Given the description of an element on the screen output the (x, y) to click on. 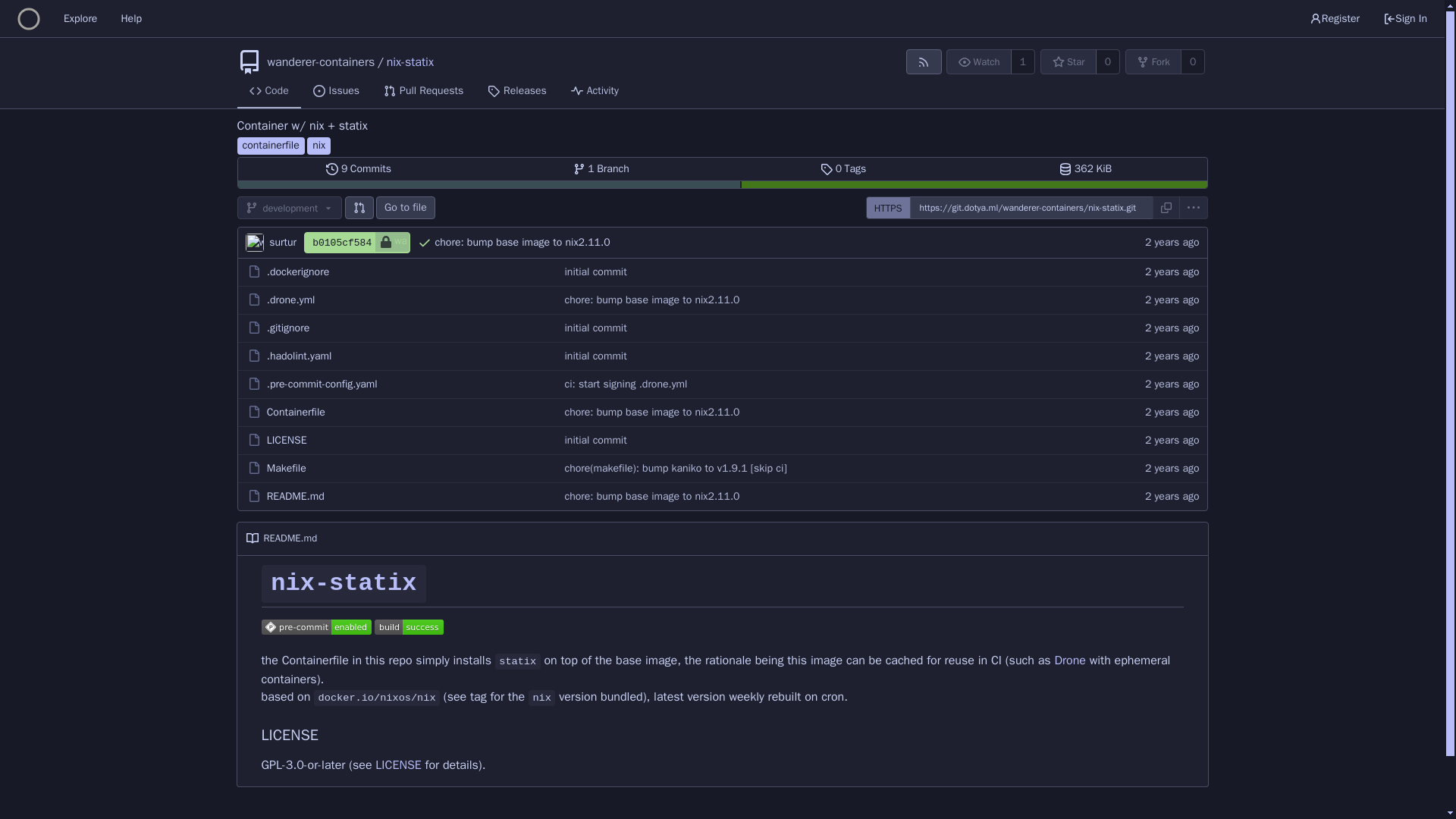
nix (318, 145)
1 (1022, 61)
Fork (1153, 61)
Watch (978, 61)
HTTPS (888, 207)
Pull Requests (423, 91)
.hadolint.yaml (842, 169)
Star (298, 355)
.dockerignore (1068, 61)
0 (297, 271)
Explore (1192, 61)
containerfile (79, 17)
.gitignore (269, 145)
nix-statix (287, 327)
